Given the description of an element on the screen output the (x, y) to click on. 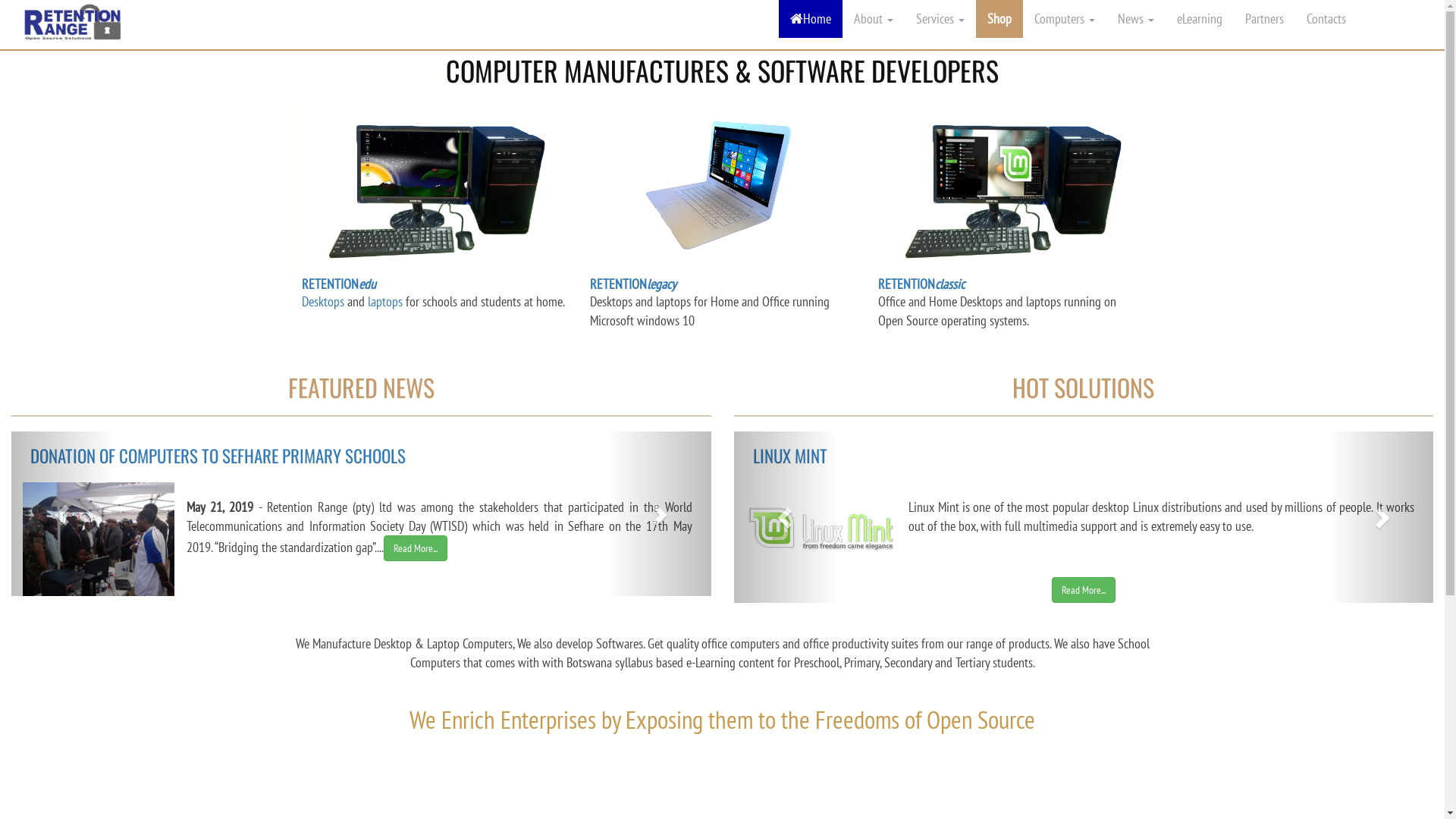
Previous Element type: text (657, 513)
Partners Element type: text (1264, 18)
LORWANA PRIMARY SCHOOL PRIZE GIVING CEREMONY Element type: text (361, 464)
News Element type: text (1135, 18)
Home Element type: text (810, 18)
Shop Element type: text (998, 18)
Contacts Element type: text (1326, 18)
Computers Element type: text (1064, 18)
Previous Element type: text (1380, 507)
RETENTIONclassic Element type: text (921, 283)
Desktops Element type: text (322, 301)
Next Element type: text (786, 507)
Next Element type: text (63, 513)
eLearning Element type: text (1199, 18)
Services Element type: text (939, 18)
Read More... Element type: text (641, 529)
RETENTIONedu Element type: text (338, 283)
RETENTION RANGE LAUNCHES RETENTION COMPUTERS Element type: text (1083, 464)
Read More... Element type: text (1161, 555)
About Element type: text (873, 18)
RETENTIONlegacy Element type: text (632, 283)
laptops Element type: text (384, 301)
